Given the description of an element on the screen output the (x, y) to click on. 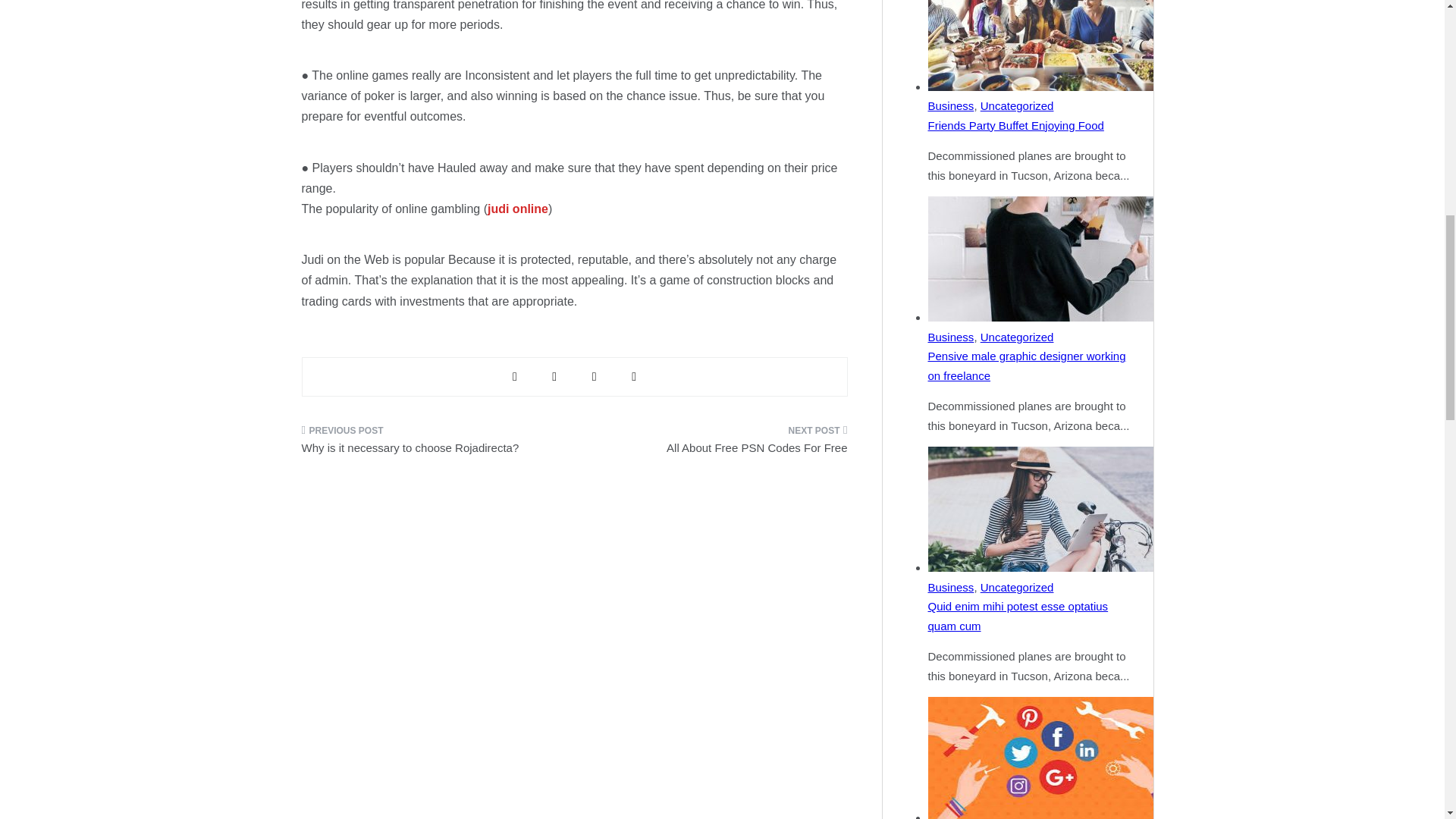
judi online (517, 208)
Why is it necessary to choose Rojadirecta? (432, 444)
All About Free PSN Codes For Free (716, 444)
